Given the description of an element on the screen output the (x, y) to click on. 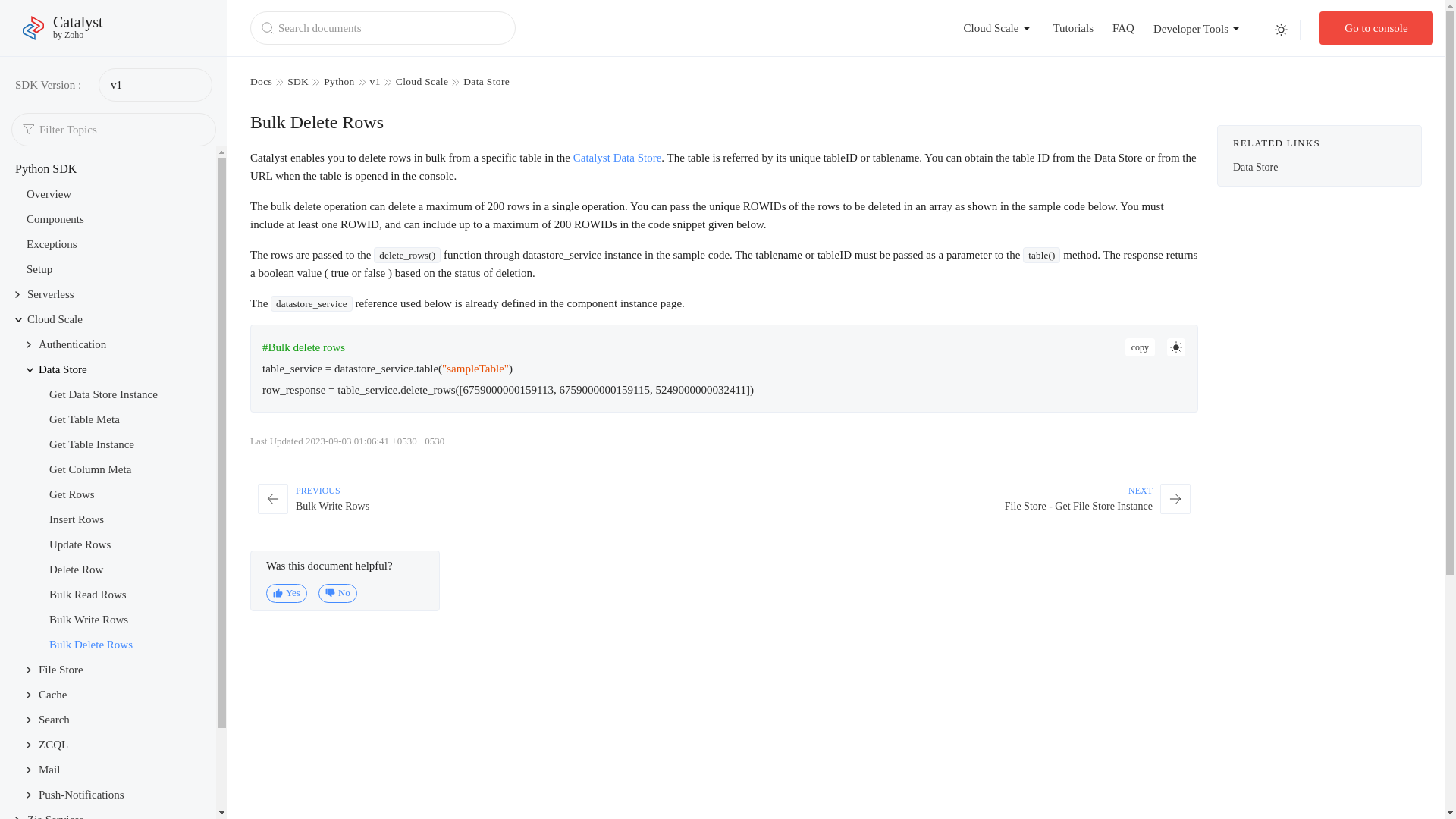
Serverless (50, 294)
Setup (39, 268)
Search documents (382, 28)
Tutorials (1072, 28)
Go to console (1375, 28)
Exceptions (63, 27)
Overview (51, 244)
Components (48, 193)
FAQ (55, 218)
Search documents (1123, 28)
